Given the description of an element on the screen output the (x, y) to click on. 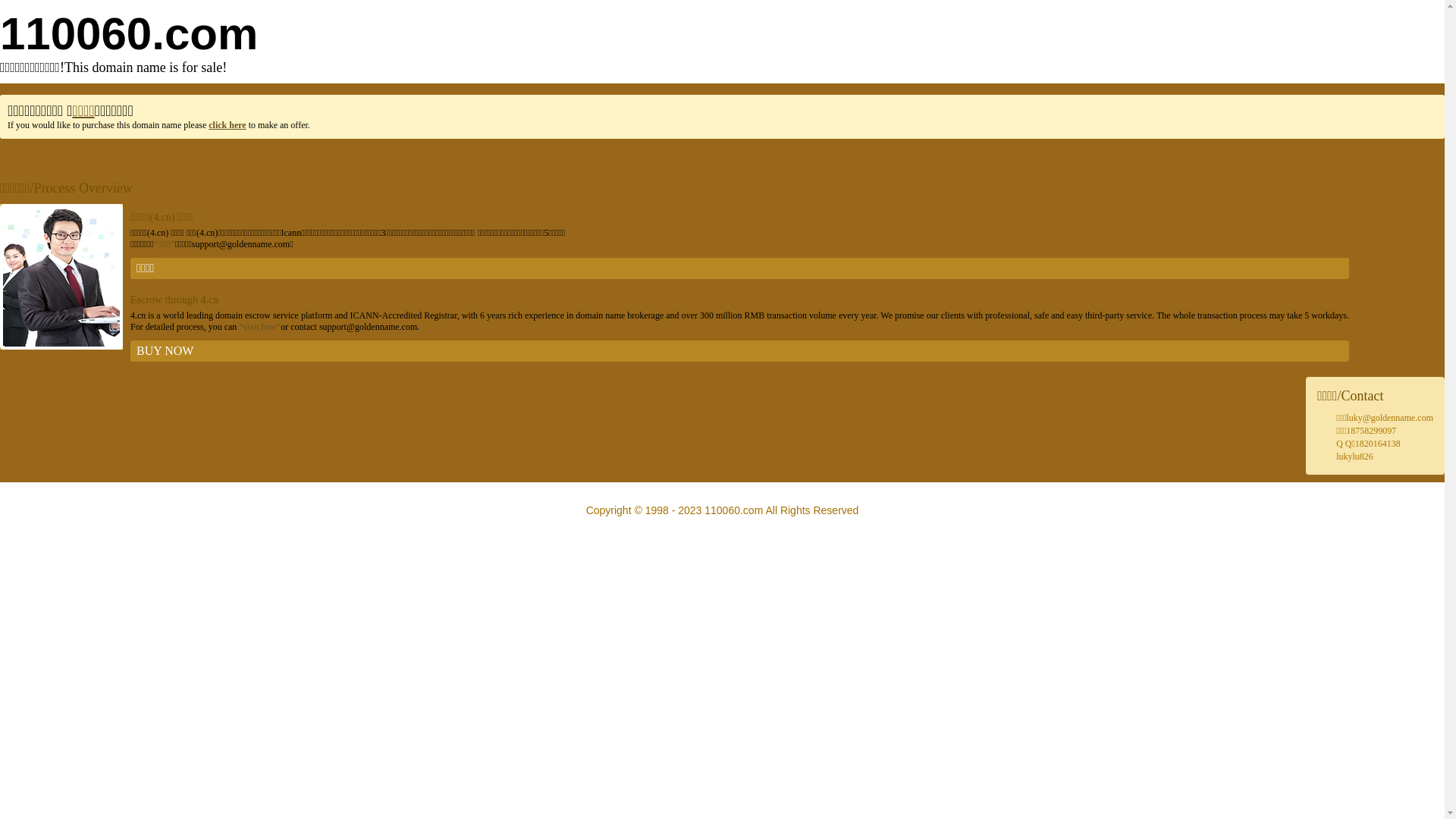
BUY NOW Element type: text (739, 350)
click here Element type: text (226, 124)
